Given the description of an element on the screen output the (x, y) to click on. 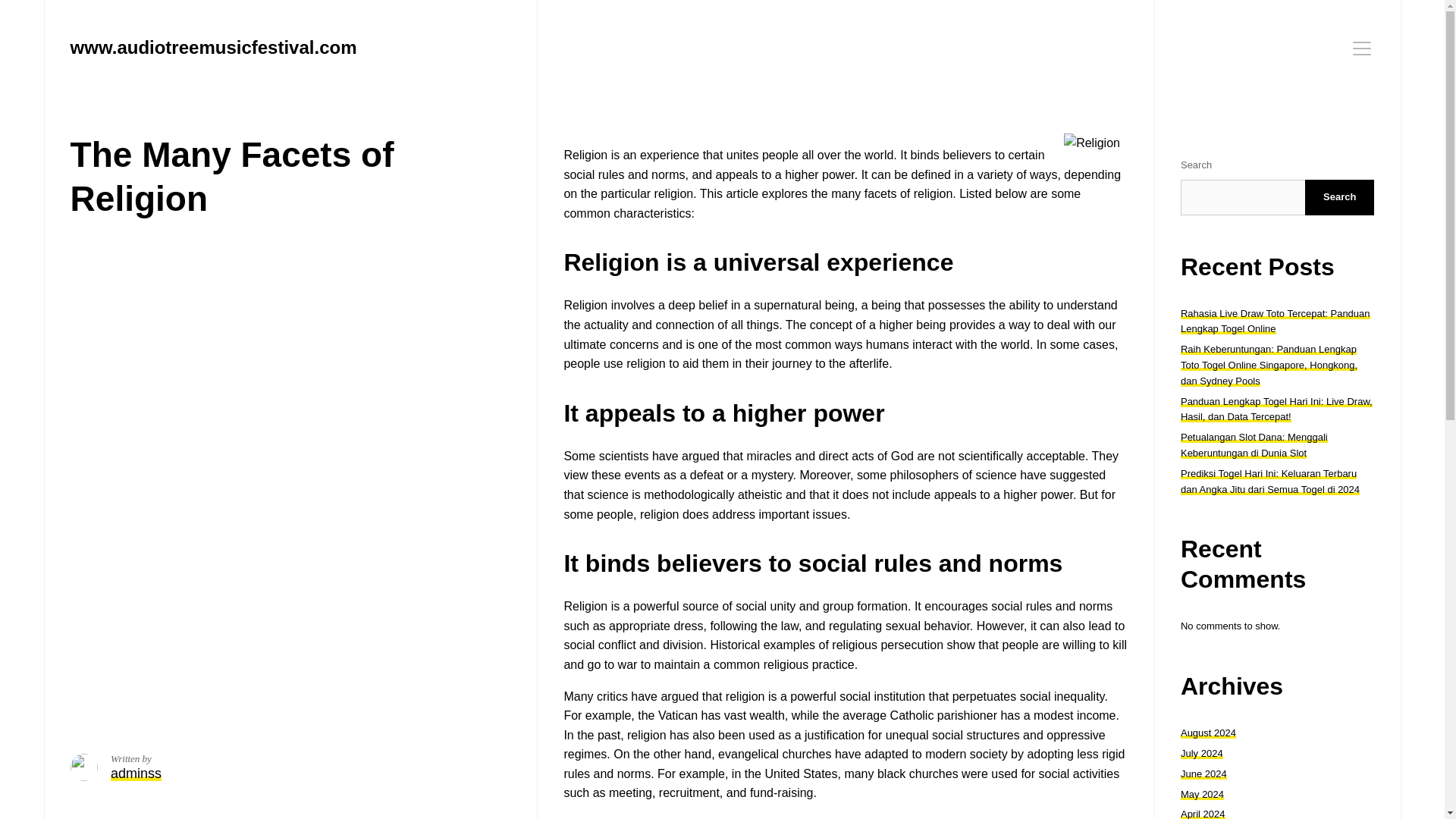
April 2024 (1202, 813)
www.audiotreemusicfestival.com (212, 47)
May 2024 (1202, 794)
July 2024 (1201, 753)
Search (1339, 197)
adminss (135, 773)
